Given the description of an element on the screen output the (x, y) to click on. 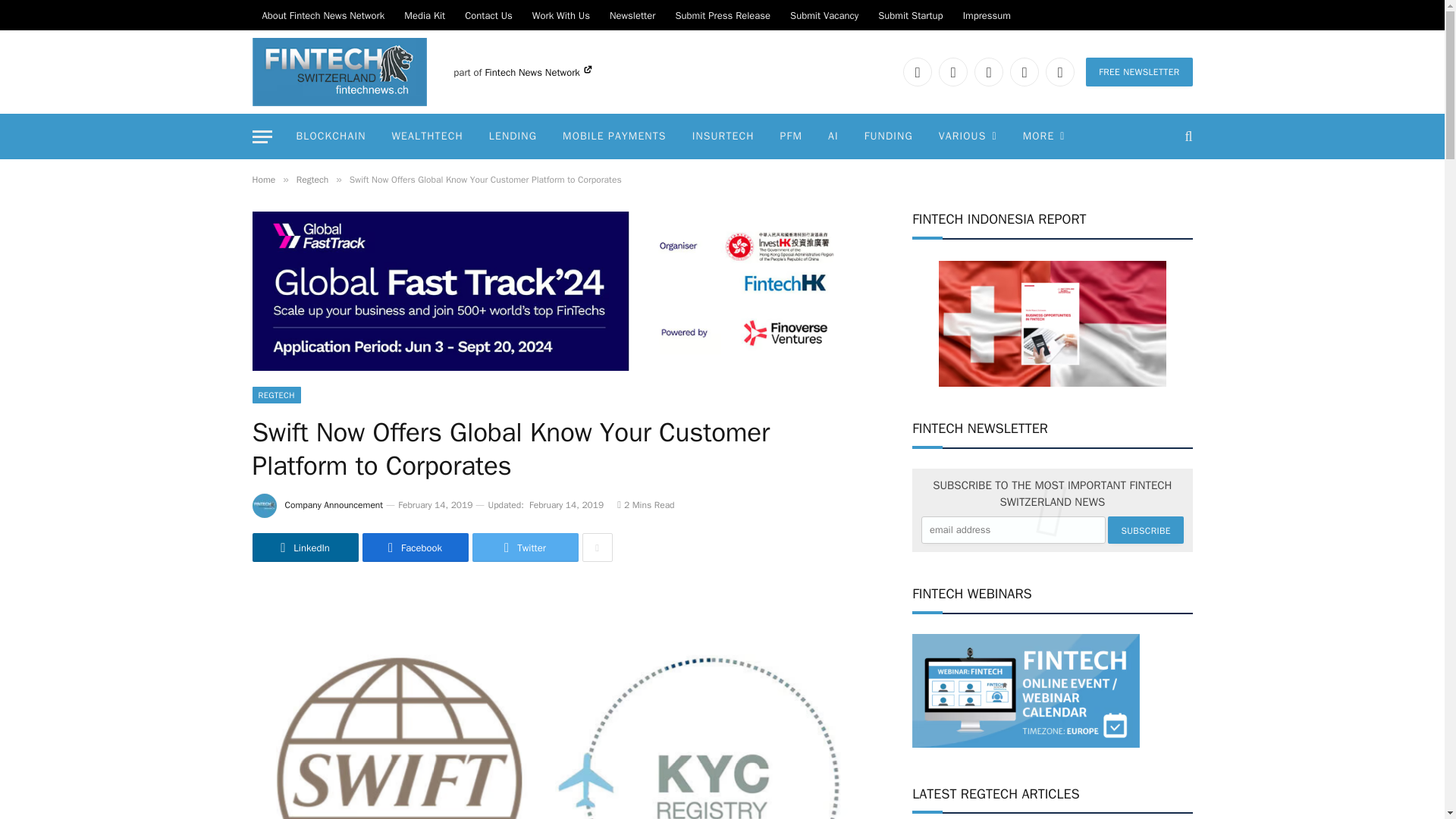
Submit Press Release (722, 15)
Submit Vacancy (823, 15)
LENDING (513, 135)
Facebook (916, 71)
Instagram (1024, 71)
Media Kit (424, 15)
About Fintech News Network (322, 15)
Work With Us (560, 15)
RSS (1059, 71)
INSURTECH (723, 135)
Fintech News Network (537, 72)
Subscribe (1145, 529)
Contact Us (488, 15)
BLOCKCHAIN (330, 135)
MOBILE PAYMENTS (614, 135)
